Given the description of an element on the screen output the (x, y) to click on. 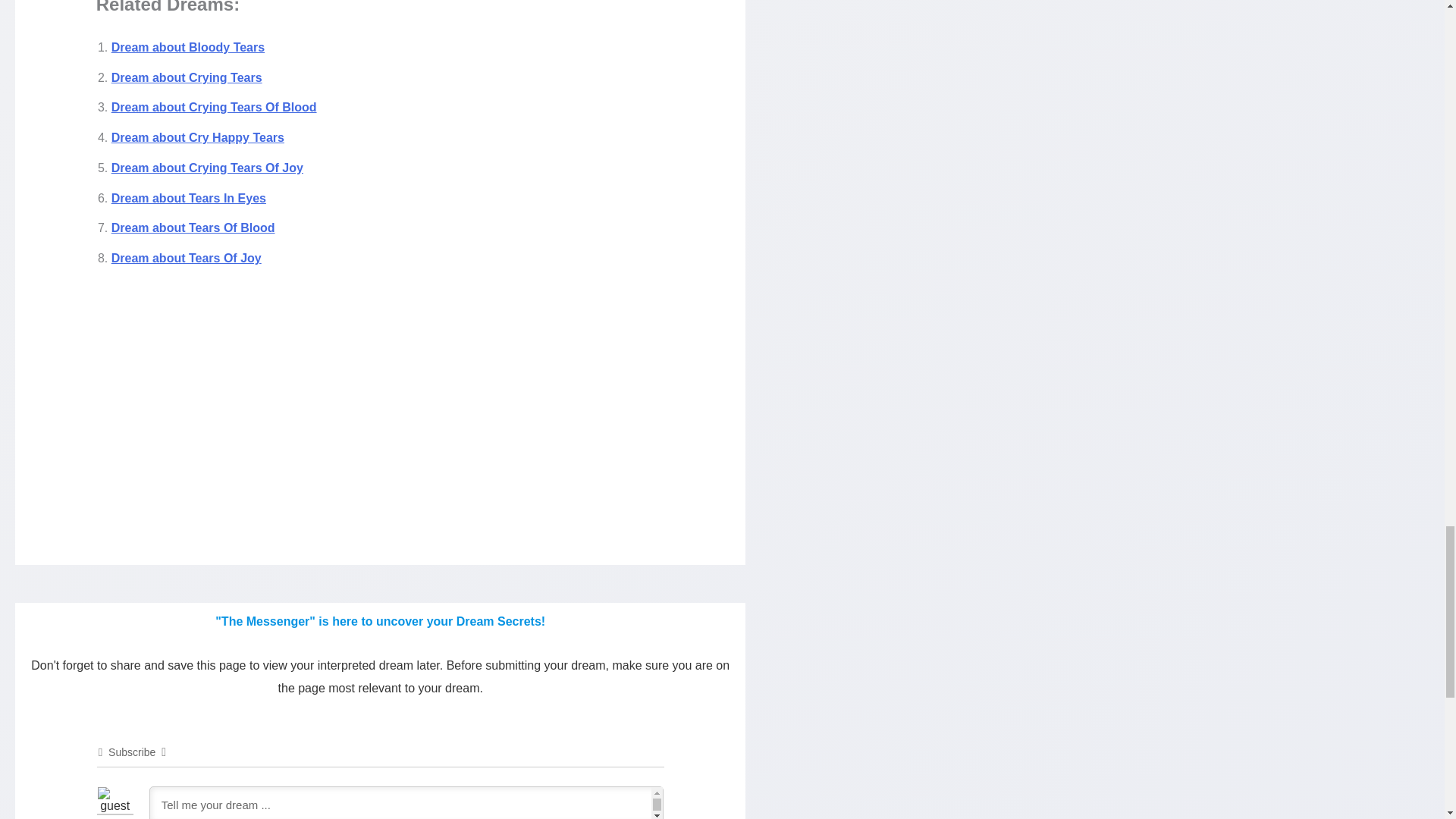
Dream about Crying Tears (187, 77)
Dream about Crying Tears (187, 77)
Dream about Tears Of Blood (193, 227)
Dream about Crying Tears Of Blood (214, 106)
Dream about Cry Happy Tears (197, 137)
Dream about Tears Of Joy (187, 257)
Dream about Tears Of Joy (187, 257)
Dream about Cry Happy Tears (197, 137)
Dream about Tears In Eyes (189, 197)
Dream about Crying Tears Of Joy (207, 167)
Dream about Tears In Eyes (189, 197)
Dream about Crying Tears Of Joy (207, 167)
Dream about Bloody Tears (188, 47)
Dream about Tears Of Blood (193, 227)
Dream about Bloody Tears (188, 47)
